Given the description of an element on the screen output the (x, y) to click on. 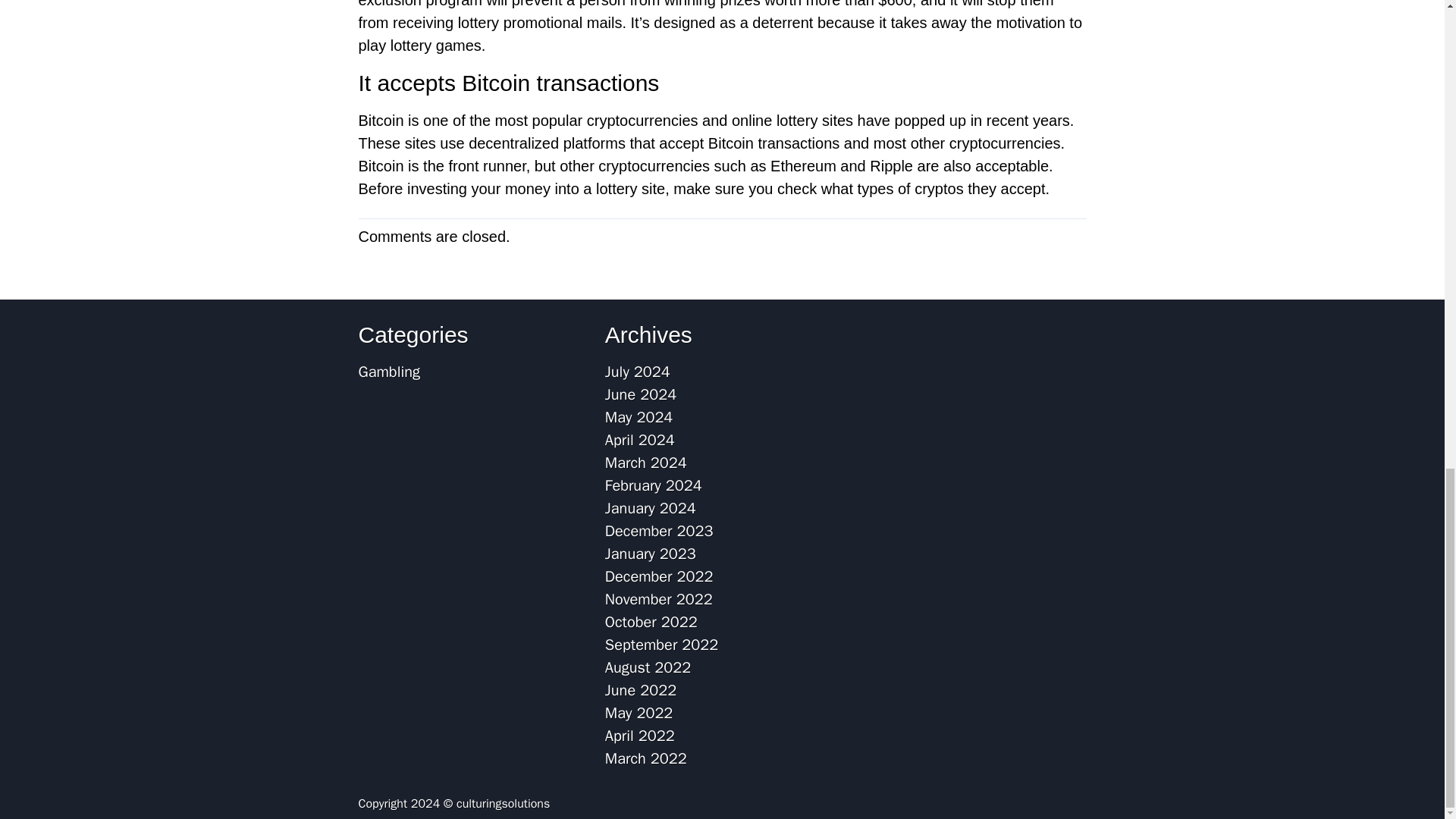
December 2022 (659, 576)
September 2022 (661, 644)
October 2022 (651, 621)
November 2022 (659, 599)
April 2024 (640, 439)
January 2023 (650, 553)
February 2024 (653, 485)
March 2024 (646, 462)
March 2022 (646, 758)
July 2024 (637, 371)
May 2024 (638, 416)
August 2022 (648, 667)
June 2024 (641, 394)
June 2022 (641, 690)
December 2023 (659, 530)
